Given the description of an element on the screen output the (x, y) to click on. 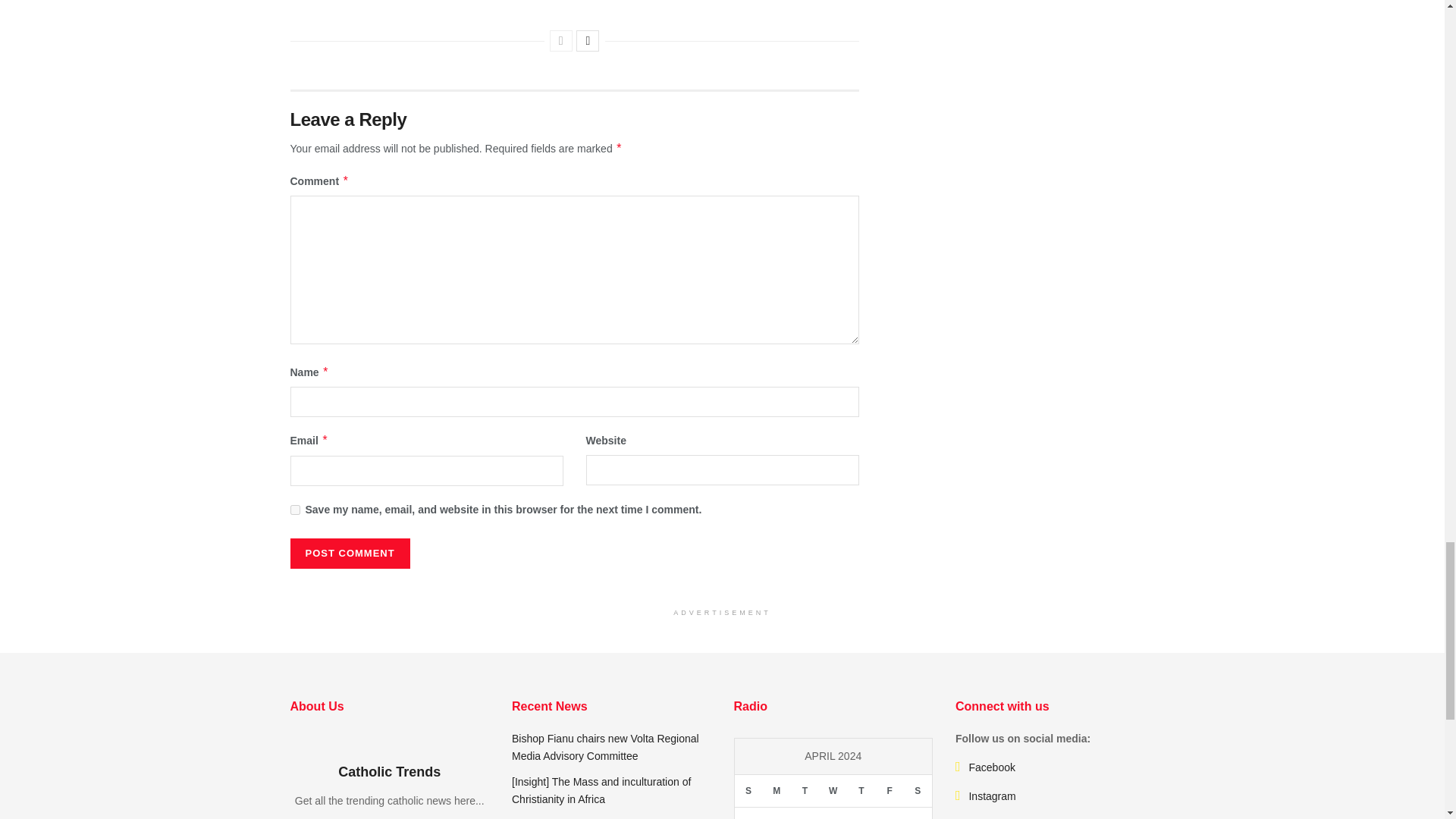
Previous (561, 40)
Next (587, 40)
yes (294, 510)
Post Comment (349, 553)
